Given the description of an element on the screen output the (x, y) to click on. 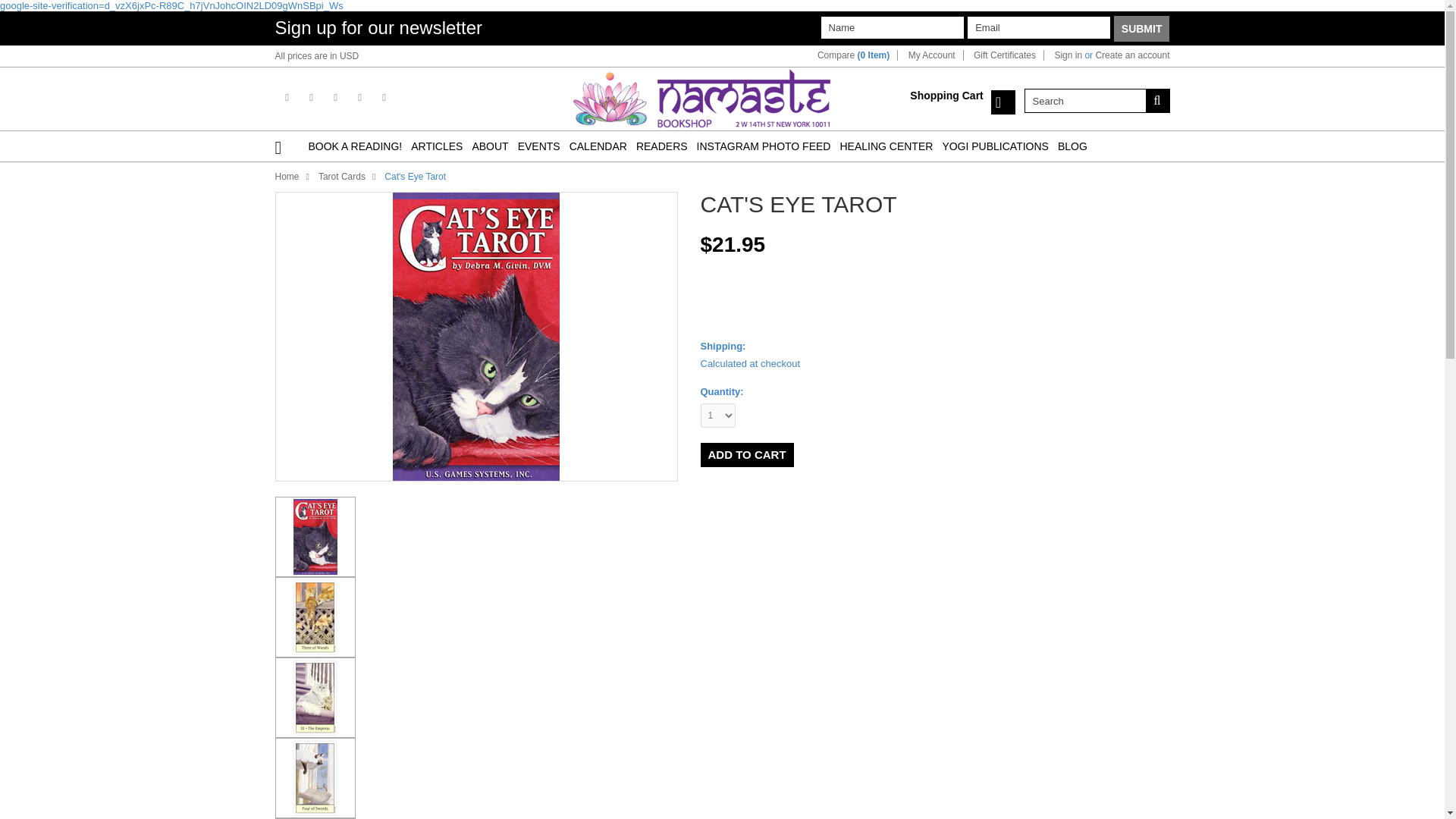
BOOK A READING! (354, 146)
ARTICLES (436, 146)
All prices are in USD (316, 55)
READERS (661, 146)
CALENDAR (598, 146)
EVENTS (539, 146)
Search (1156, 100)
Sign in (1067, 54)
View Cart (1002, 102)
Add To Cart (746, 454)
ABOUT (489, 146)
Submit (1141, 28)
Name (892, 27)
Gift Certificates (1004, 54)
US Dollar (348, 55)
